Given the description of an element on the screen output the (x, y) to click on. 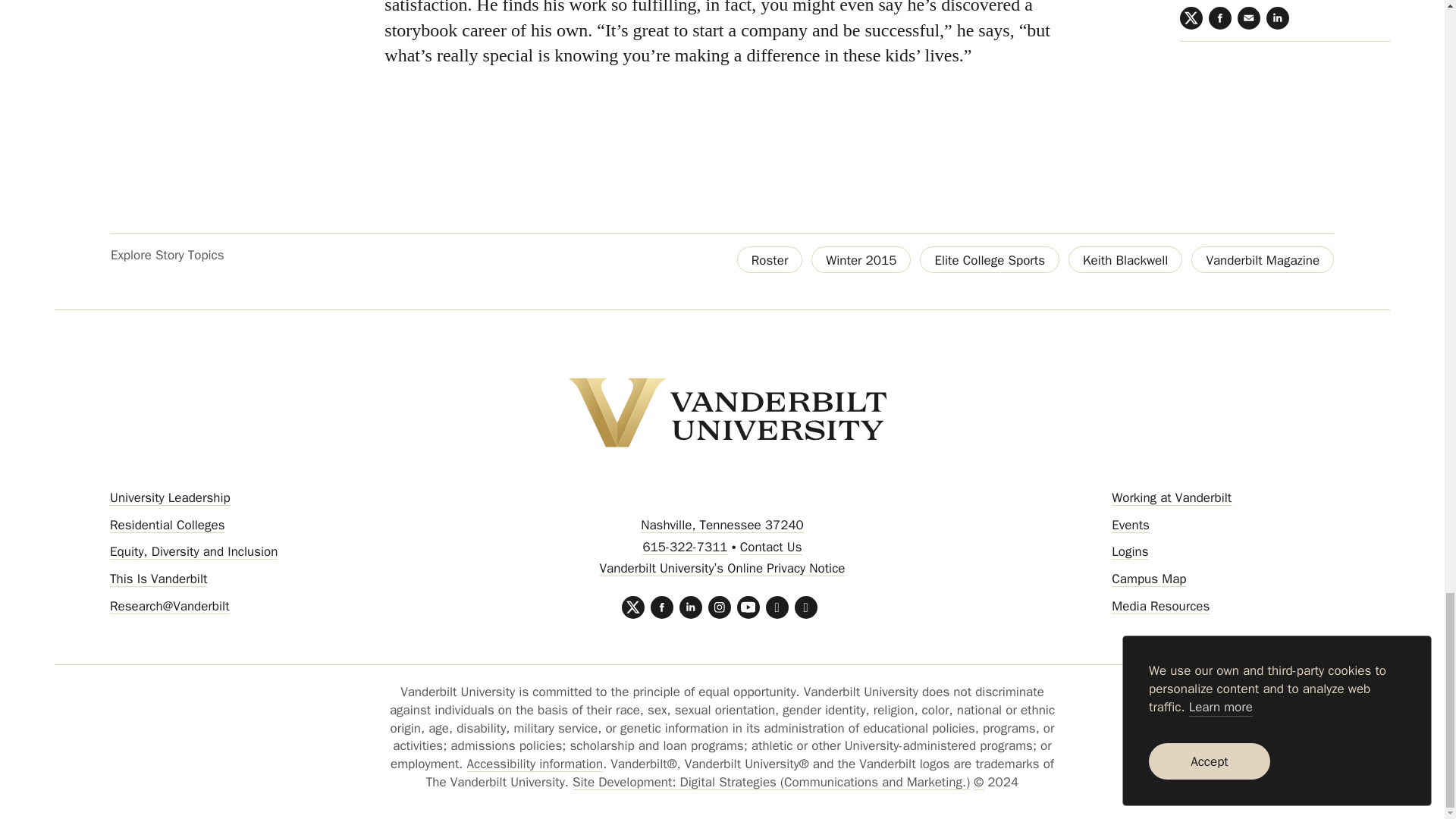
Keith Blackwell (1125, 259)
Winter 2015 (860, 259)
Elite College Sports (989, 259)
Roster (769, 259)
